Given the description of an element on the screen output the (x, y) to click on. 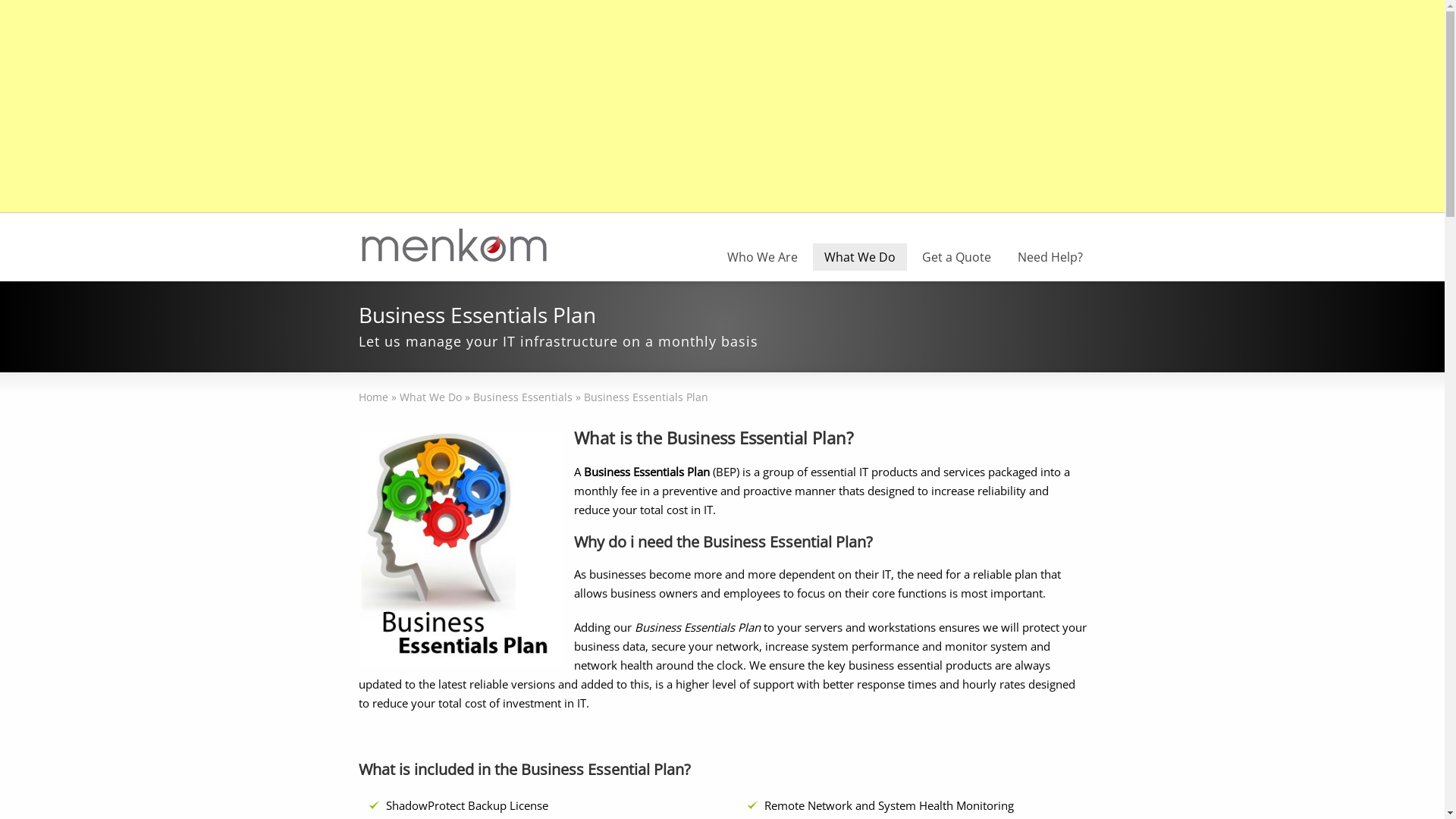
What We Do Element type: text (859, 256)
Get a Quote Element type: text (955, 256)
Advertisement Element type: hover (455, 106)
Business Essentials Element type: text (522, 396)
What We Do Element type: text (429, 396)
Who We Are Element type: text (762, 256)
Home Element type: text (372, 396)
Need Help? Element type: text (1049, 256)
